Given the description of an element on the screen output the (x, y) to click on. 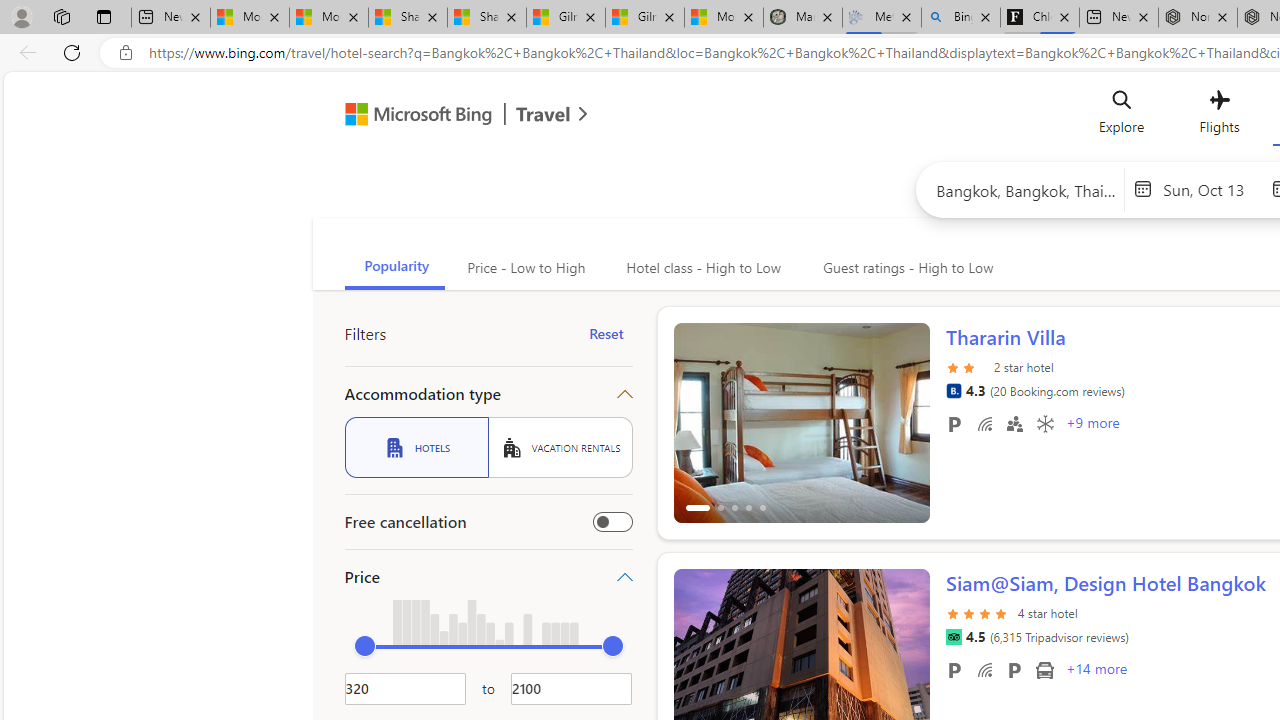
Back (24, 52)
Popularity (394, 268)
Explore (1121, 116)
Workspaces (61, 16)
Price - Low to High (524, 268)
Tab actions menu (104, 16)
Class: msft-travel-logo (543, 114)
Air conditioning (1044, 423)
Microsoft Bing Travel (445, 116)
+14 More Amenities (1095, 671)
Booking.com (953, 390)
AutomationID: TextField877 (571, 688)
